Given the description of an element on the screen output the (x, y) to click on. 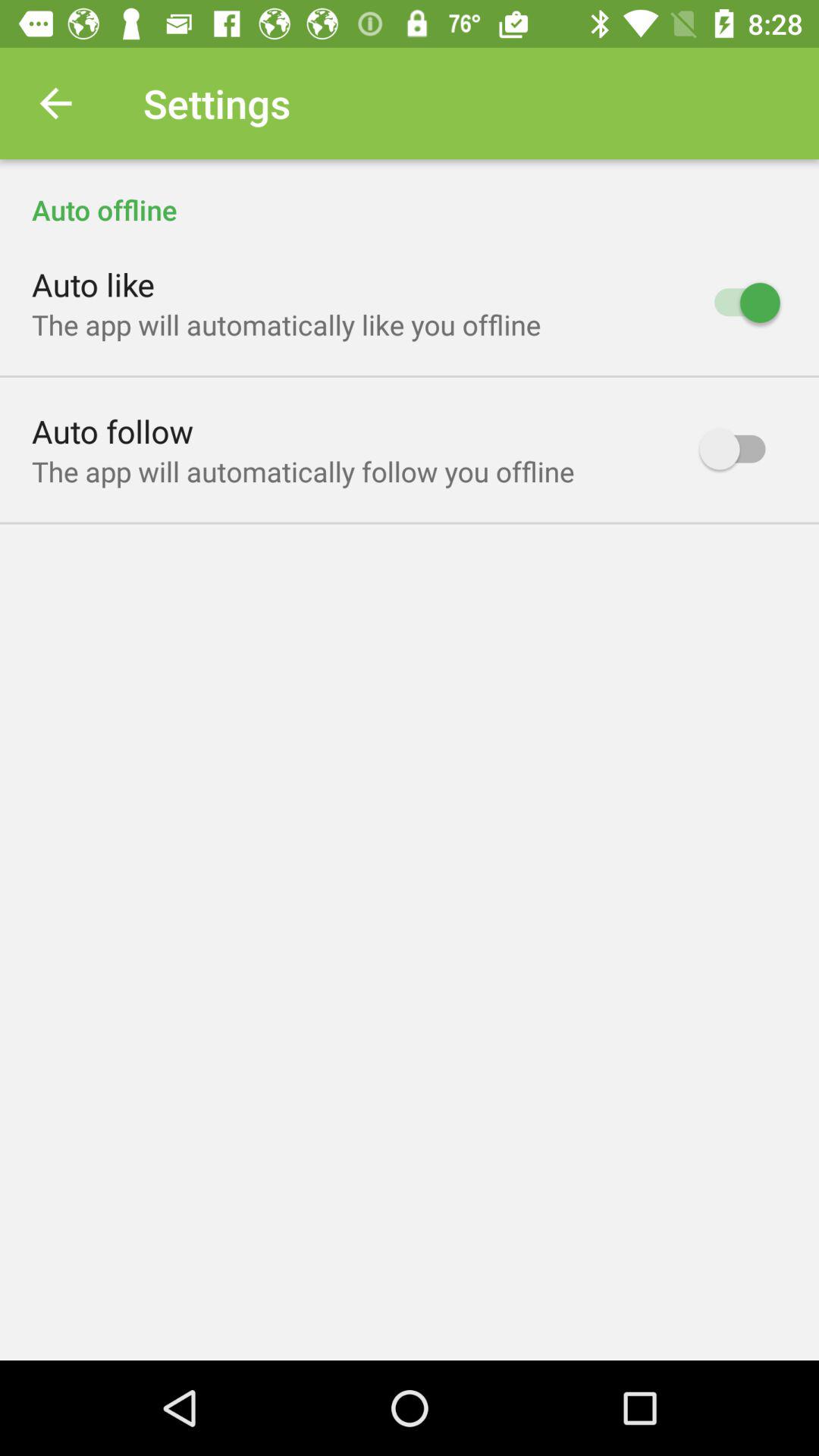
click item below the app will icon (112, 430)
